Given the description of an element on the screen output the (x, y) to click on. 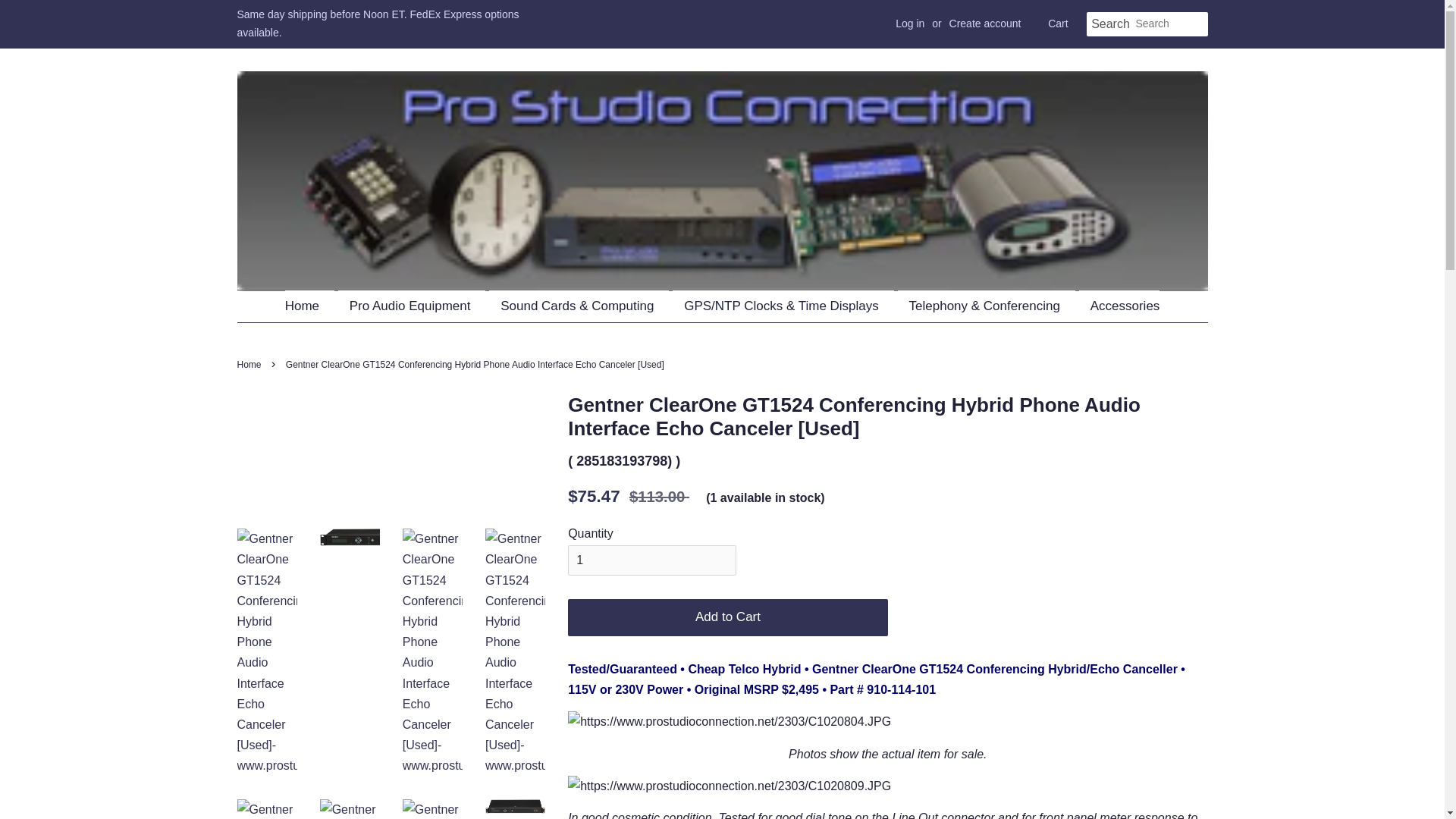
Cart (1057, 24)
Log in (909, 23)
1 (651, 560)
Create account (985, 23)
Search (1110, 24)
Back to the frontpage (249, 364)
